Given the description of an element on the screen output the (x, y) to click on. 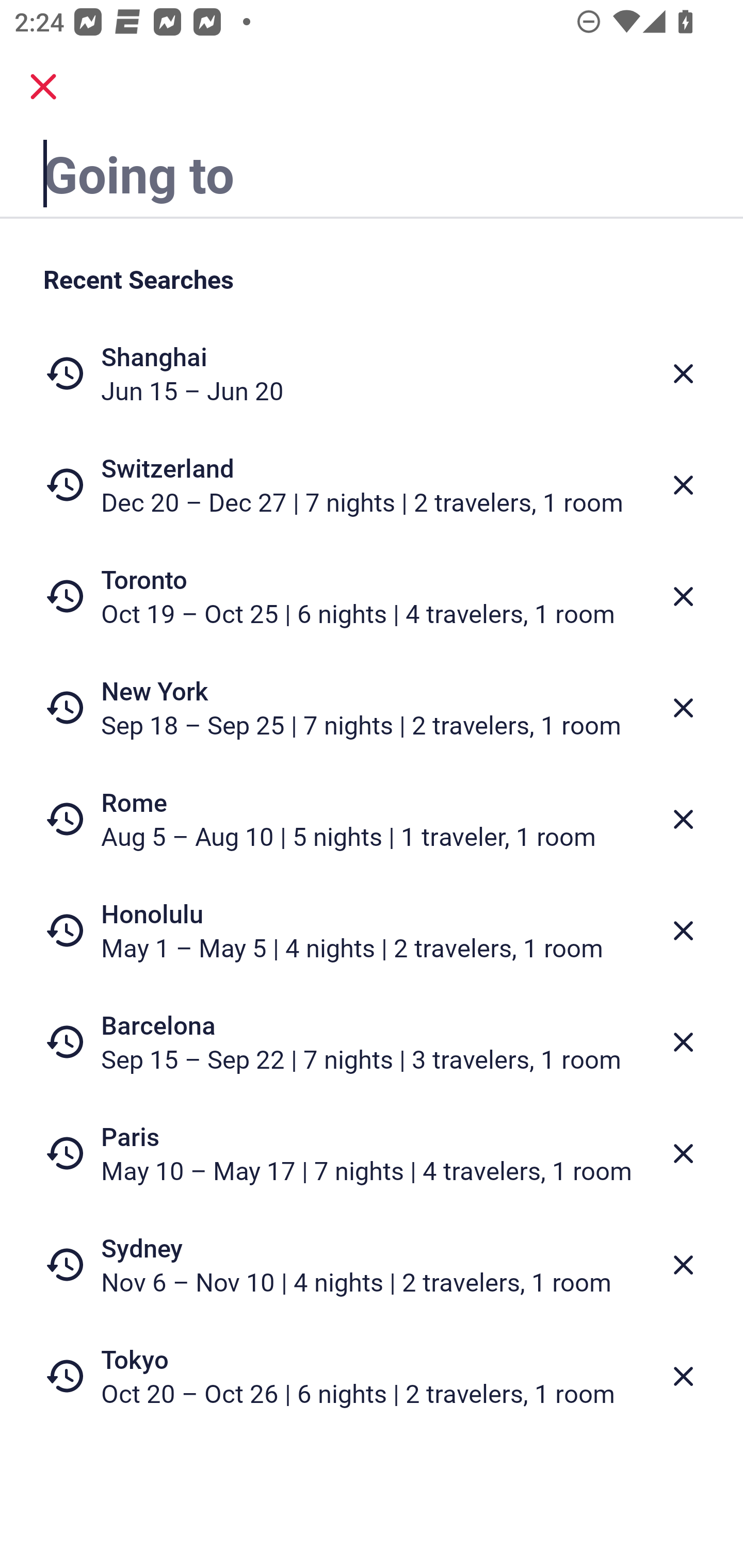
close. (43, 86)
Shanghai Jun 15 – Jun 20 (371, 373)
Delete from recent searches (683, 373)
Delete from recent searches (683, 485)
Delete from recent searches (683, 596)
Delete from recent searches (683, 707)
Delete from recent searches (683, 819)
Delete from recent searches (683, 930)
Delete from recent searches (683, 1041)
Delete from recent searches (683, 1153)
Delete from recent searches (683, 1265)
Delete from recent searches (683, 1376)
